Given the description of an element on the screen output the (x, y) to click on. 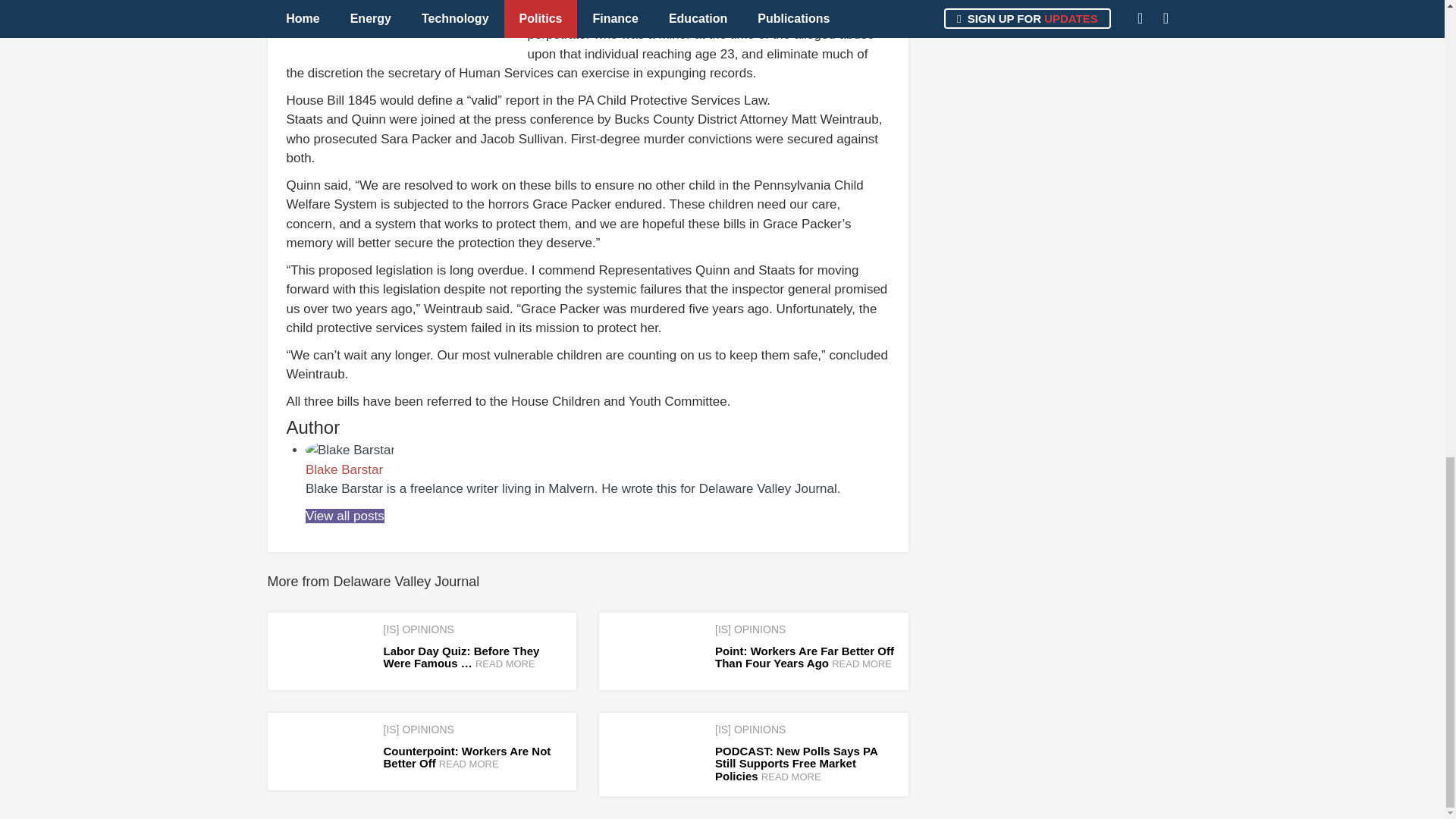
Counterpoint: Workers Are Not Better Off READ MORE (467, 757)
View all posts (344, 515)
Blake Barstar (343, 469)
Blake Barstar (343, 469)
View all posts (344, 515)
